Given the description of an element on the screen output the (x, y) to click on. 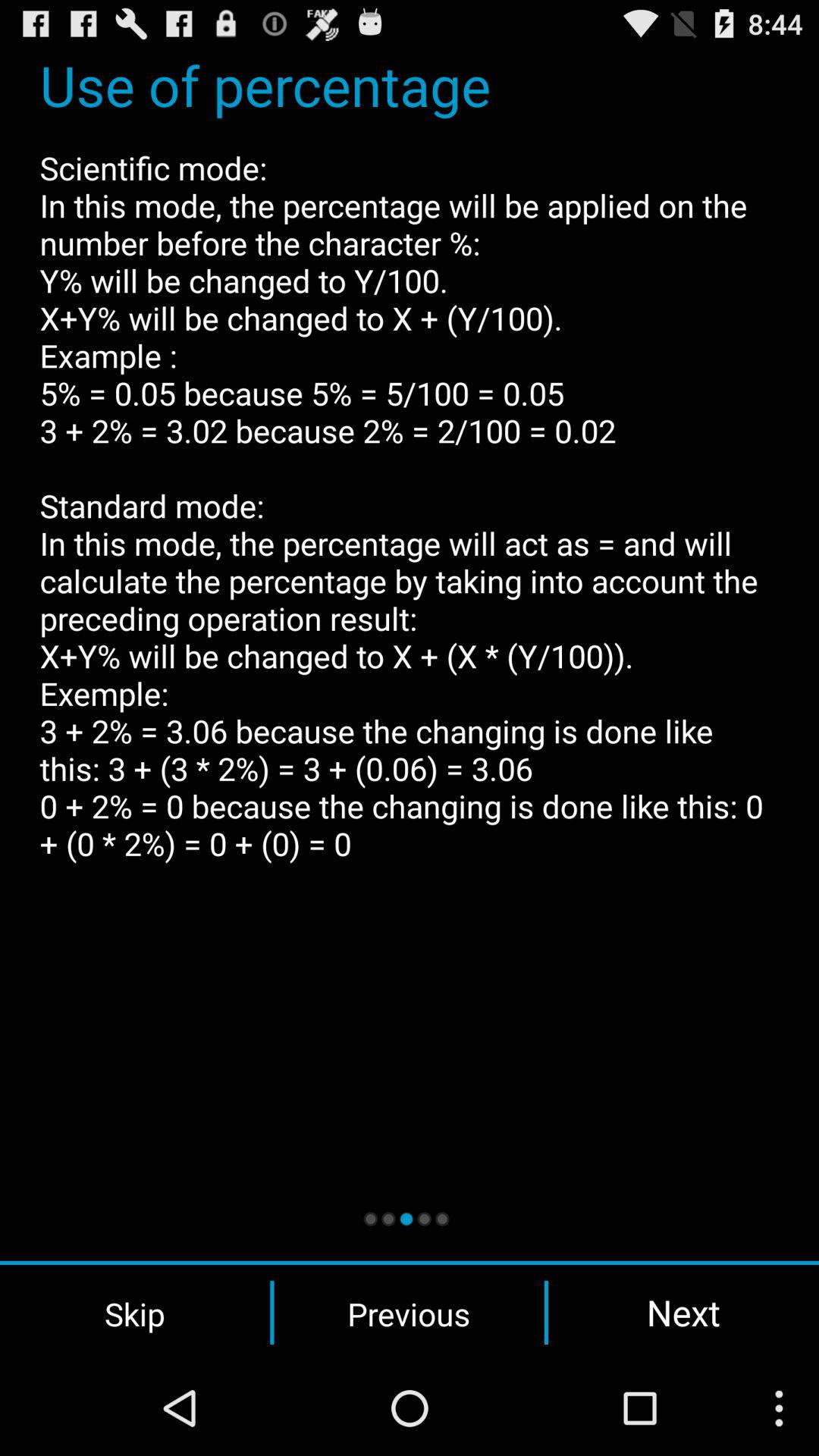
swipe to skip button (135, 1313)
